Given the description of an element on the screen output the (x, y) to click on. 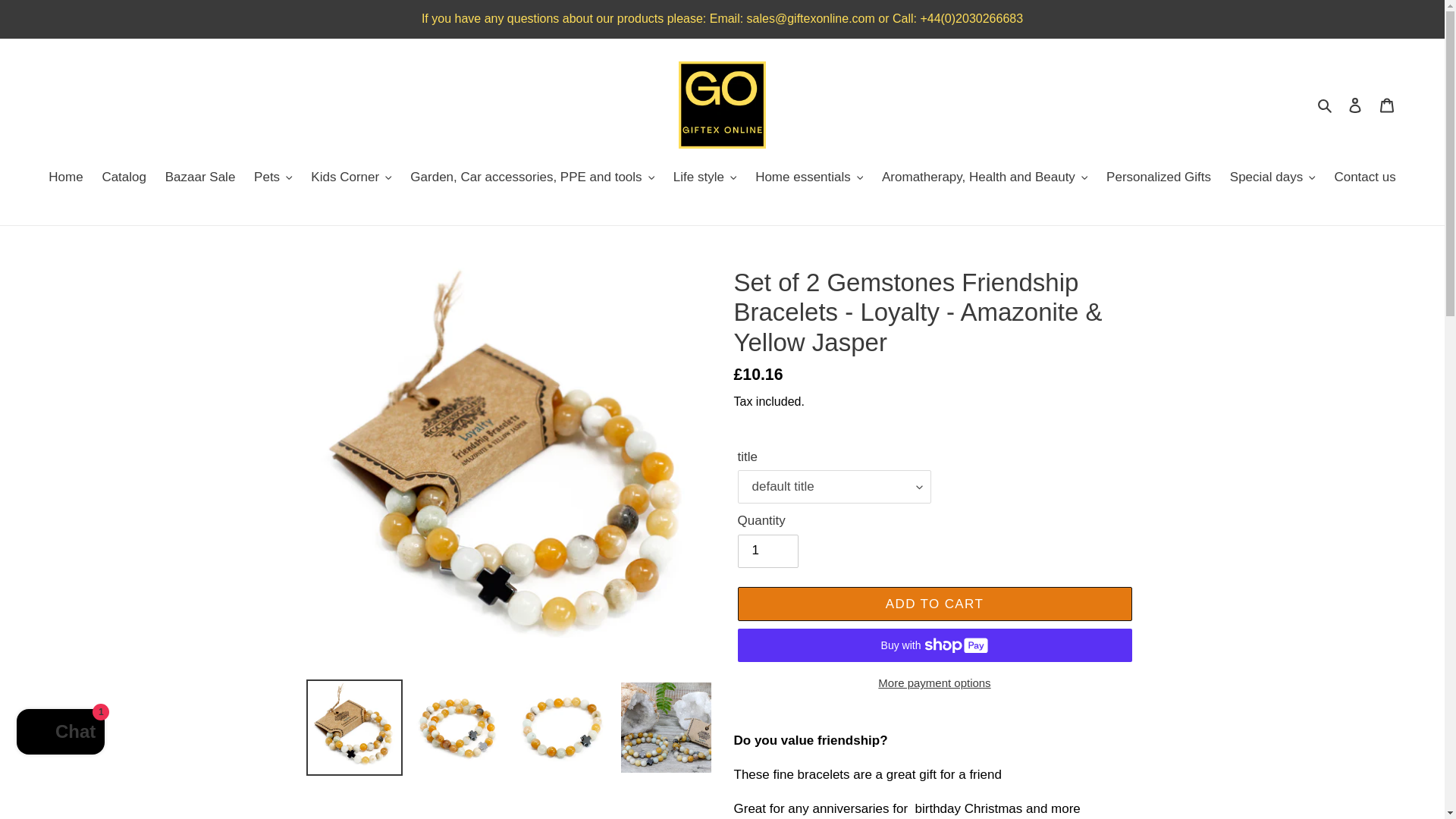
1 (766, 551)
Cart (1387, 104)
Log in (1355, 104)
Search (1326, 105)
Shopify online store chat (60, 733)
